Given the description of an element on the screen output the (x, y) to click on. 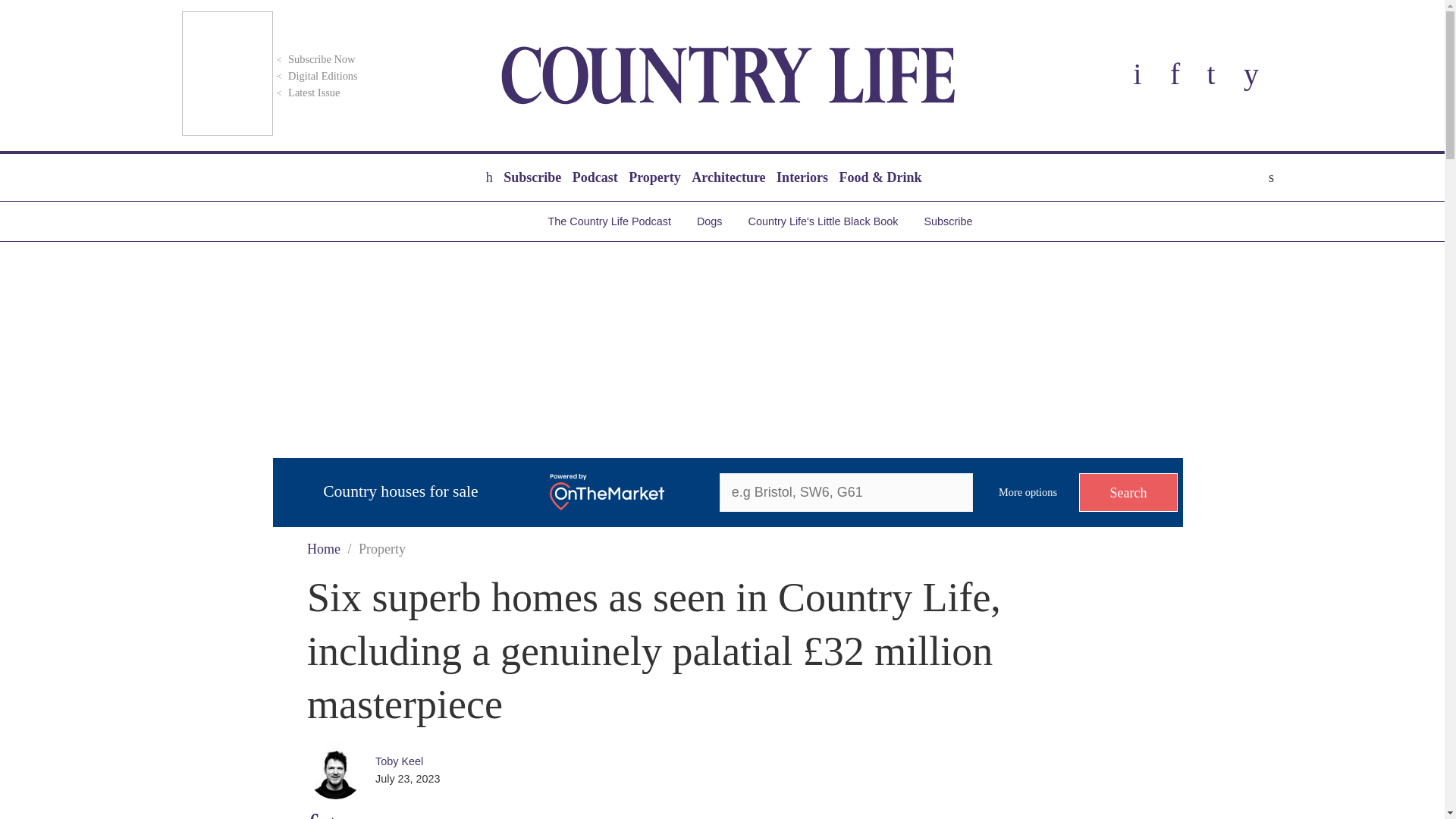
Subscribe Now (314, 59)
Subscribe (531, 176)
Latest Issue (306, 92)
Country Life (727, 74)
Digital Editions (315, 75)
Architecture (727, 176)
Property (654, 176)
Podcast (595, 176)
Interiors (802, 176)
